Given the description of an element on the screen output the (x, y) to click on. 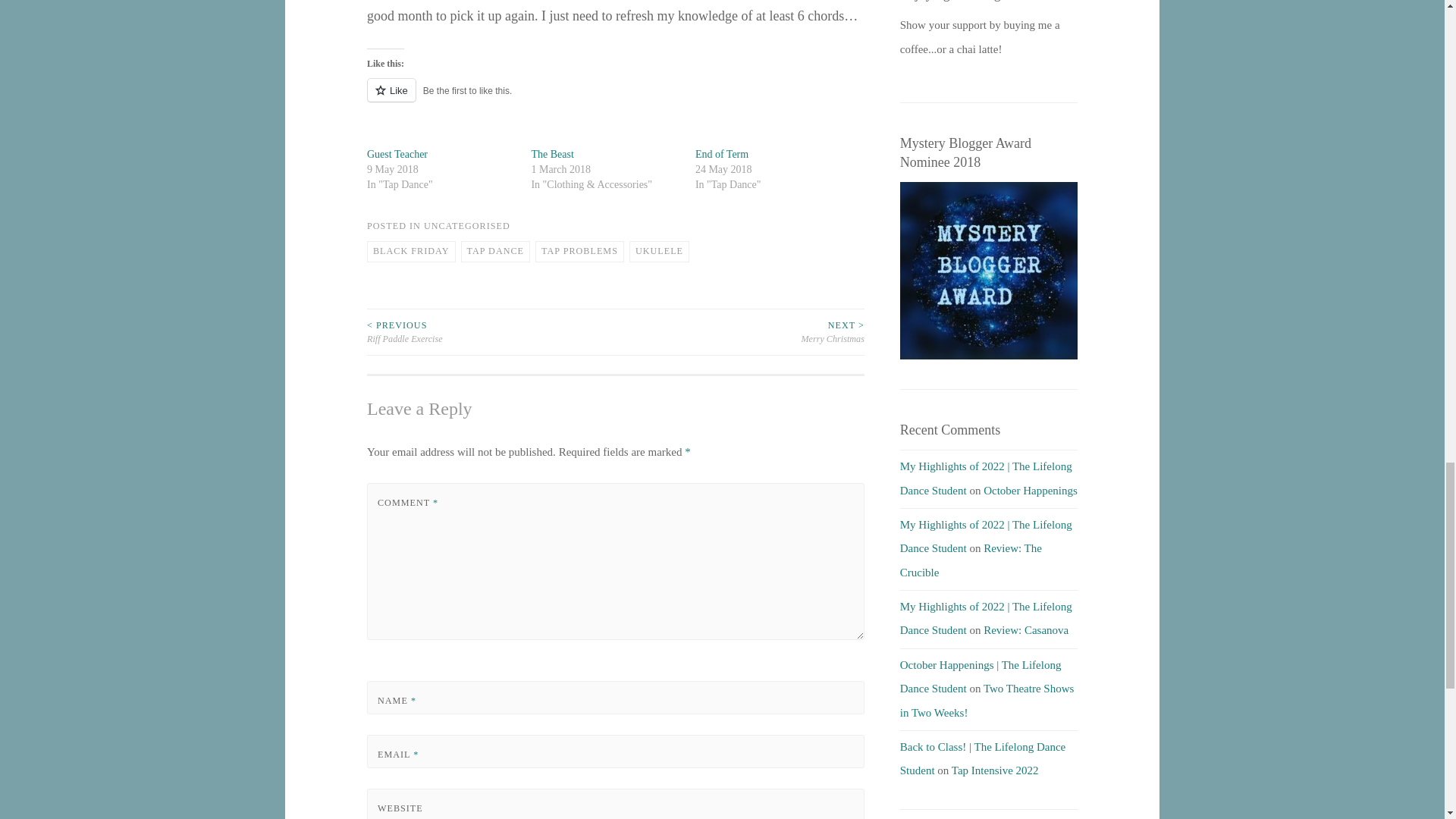
BLACK FRIDAY (410, 251)
UKULELE (658, 251)
Like or Reblog (615, 98)
Guest Teacher (397, 153)
TAP DANCE (496, 251)
End of Term (721, 153)
The Beast (552, 153)
End of Term (721, 153)
Guest Teacher (397, 153)
The Beast (552, 153)
TAP PROBLEMS (579, 251)
